Given the description of an element on the screen output the (x, y) to click on. 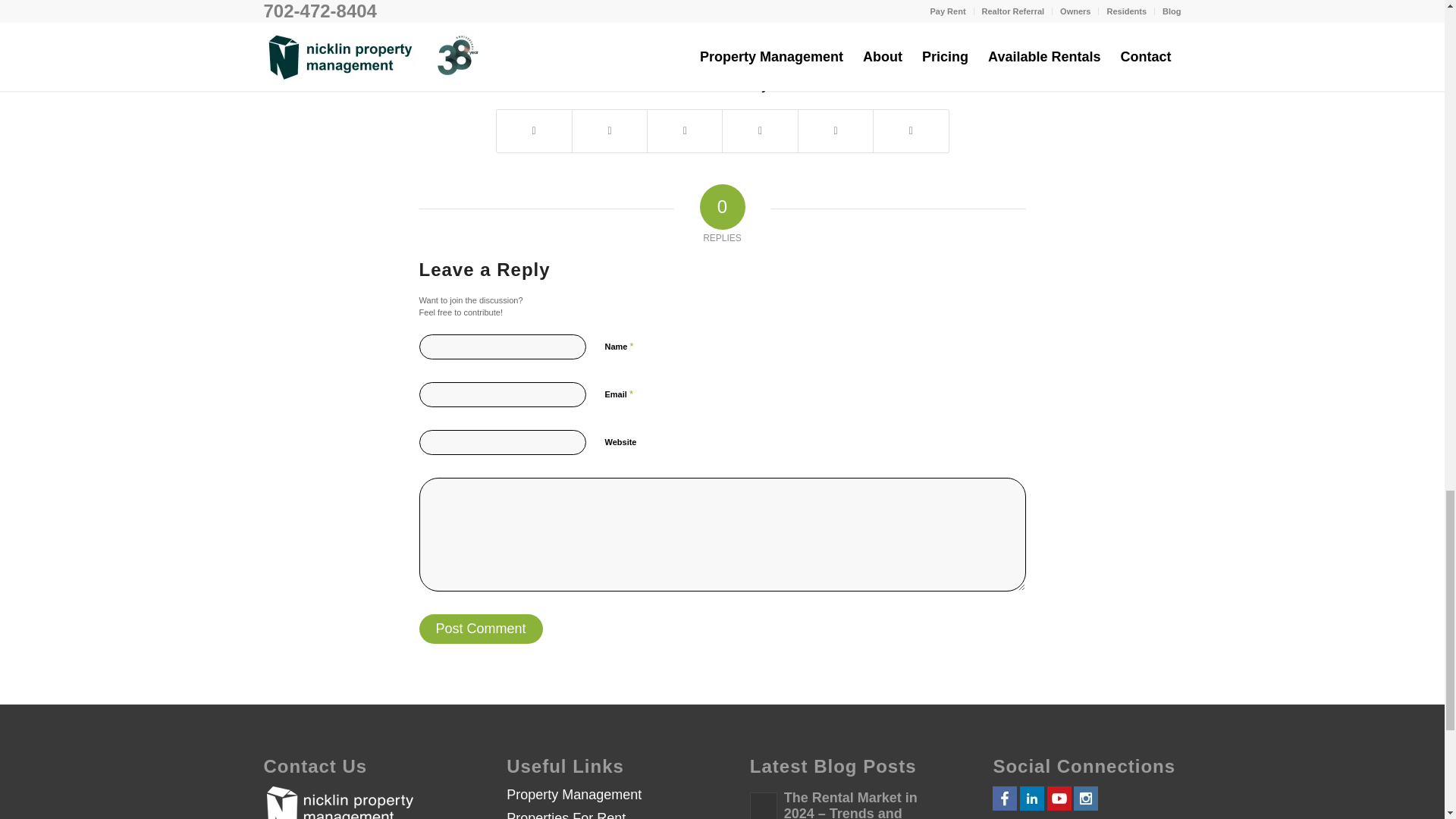
Post Comment (480, 628)
ADRIAN FRANKFURTER (784, 30)
Posts by Adrian Frankfurter (784, 30)
